Given the description of an element on the screen output the (x, y) to click on. 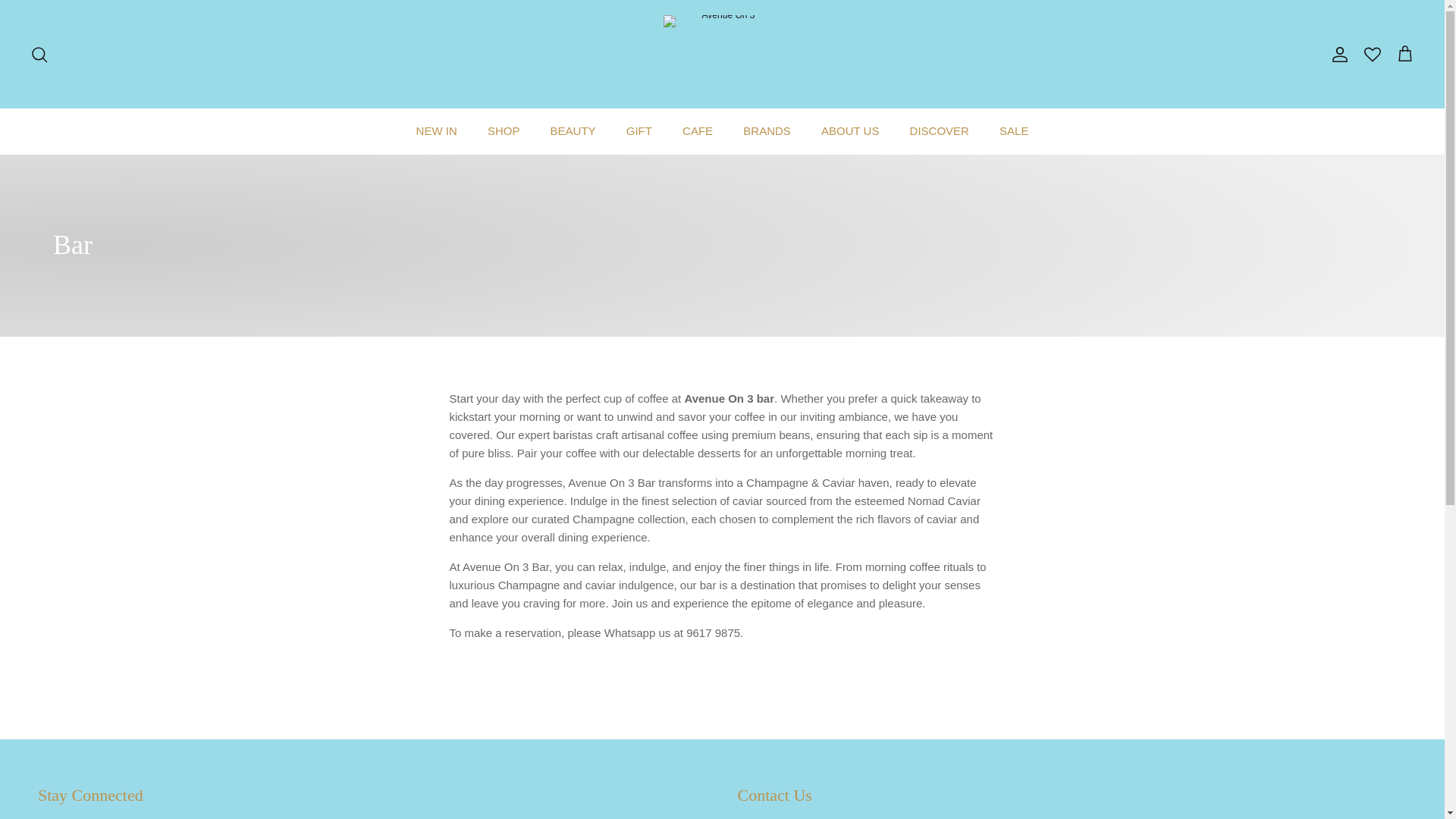
Search (39, 54)
NEW IN (436, 130)
Account (1336, 54)
Avenue On 3 (721, 54)
Cart (1404, 54)
SHOP (504, 130)
